Given the description of an element on the screen output the (x, y) to click on. 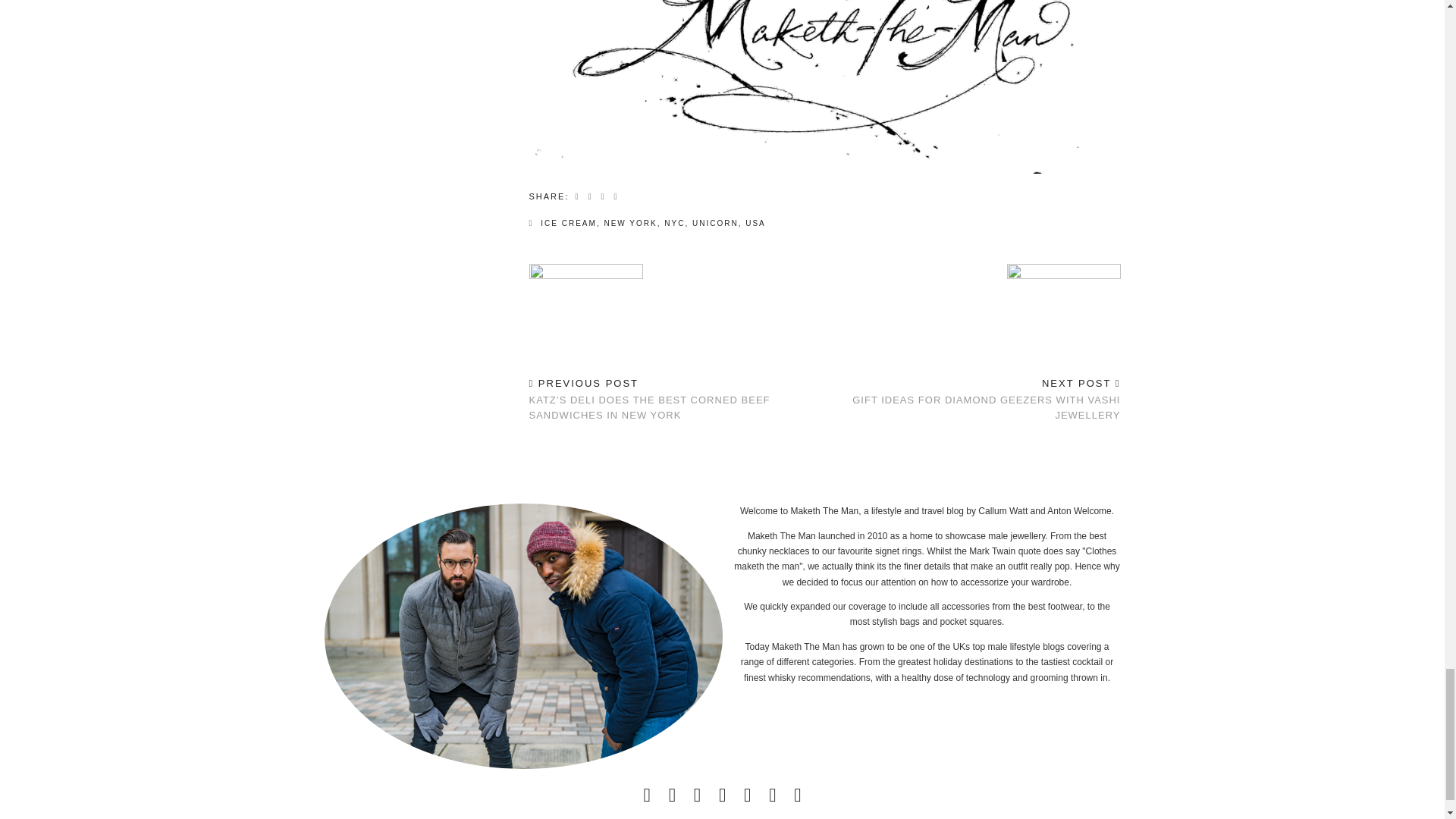
UNICORN (715, 223)
NYC (673, 223)
NEW YORK (630, 223)
ICE CREAM (568, 223)
USA (755, 223)
